Given the description of an element on the screen output the (x, y) to click on. 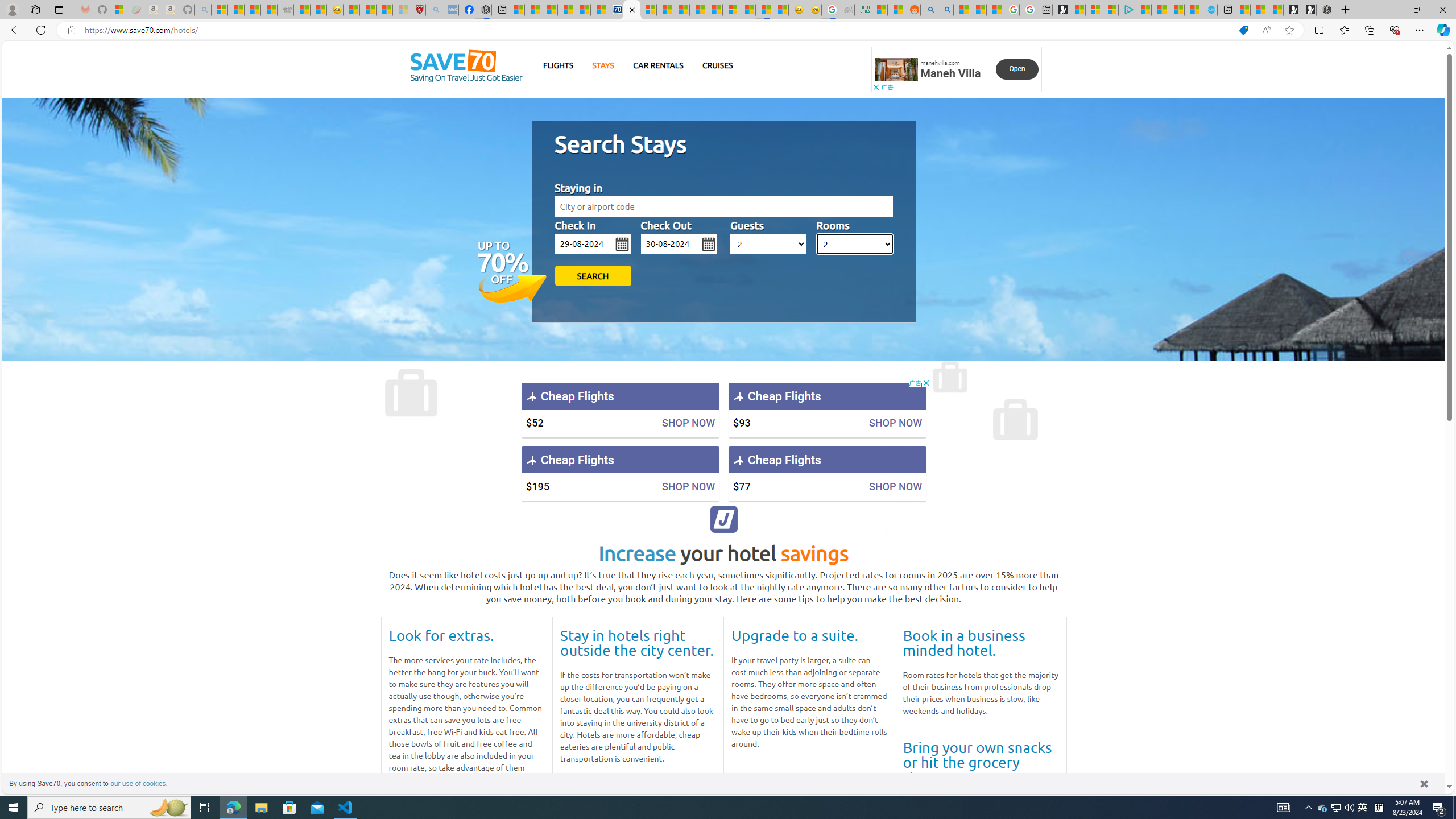
CAR RENTALS (657, 65)
manehvilla.com (939, 62)
STAYS (603, 65)
